Given the description of an element on the screen output the (x, y) to click on. 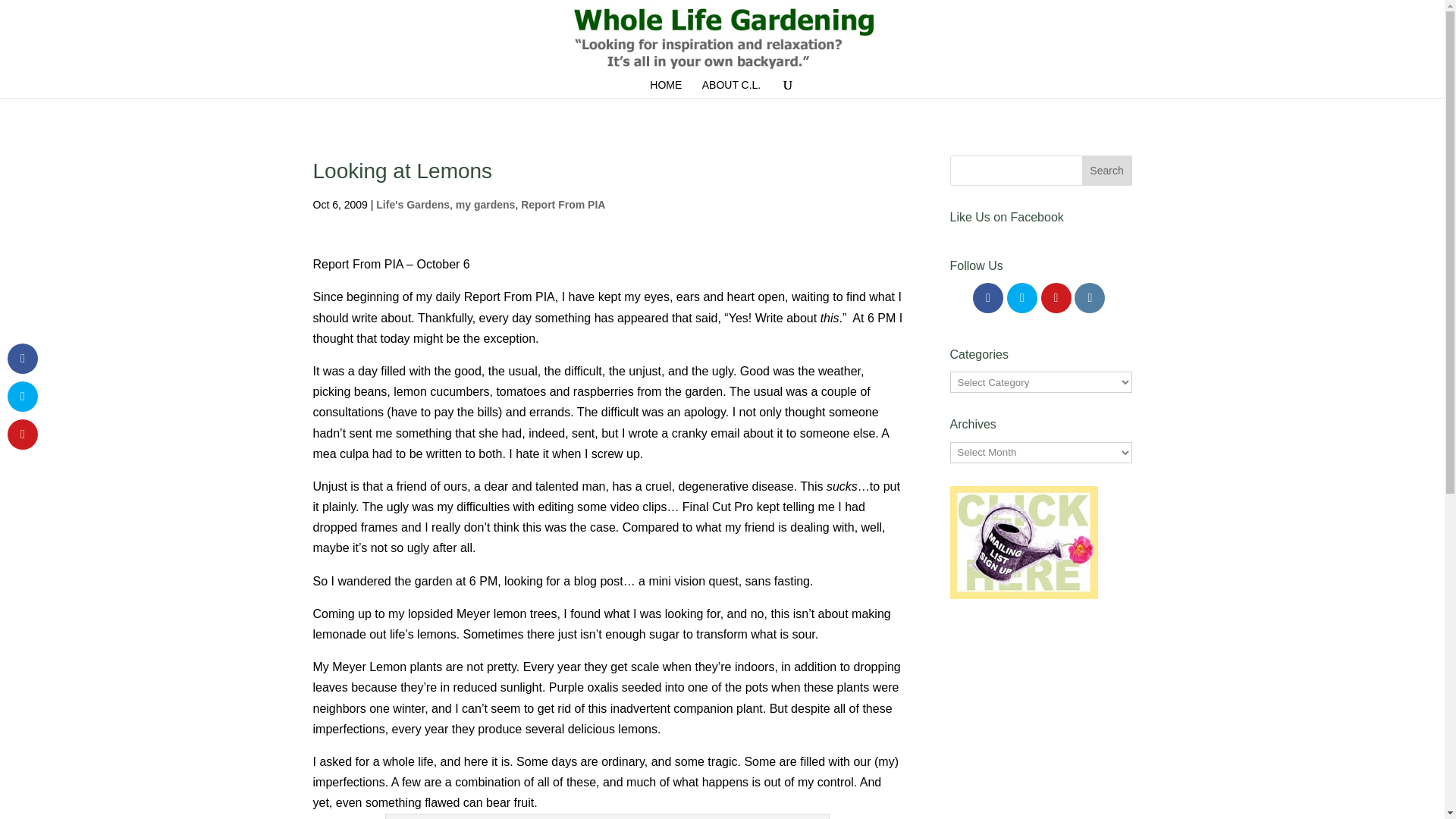
Report From PIA (563, 204)
Search (1106, 170)
my gardens (485, 204)
ABOUT C.L. (731, 88)
Search (1106, 170)
Mailing List Sign Up (1023, 542)
HOME (665, 88)
Life's Gardens (412, 204)
